Given the description of an element on the screen output the (x, y) to click on. 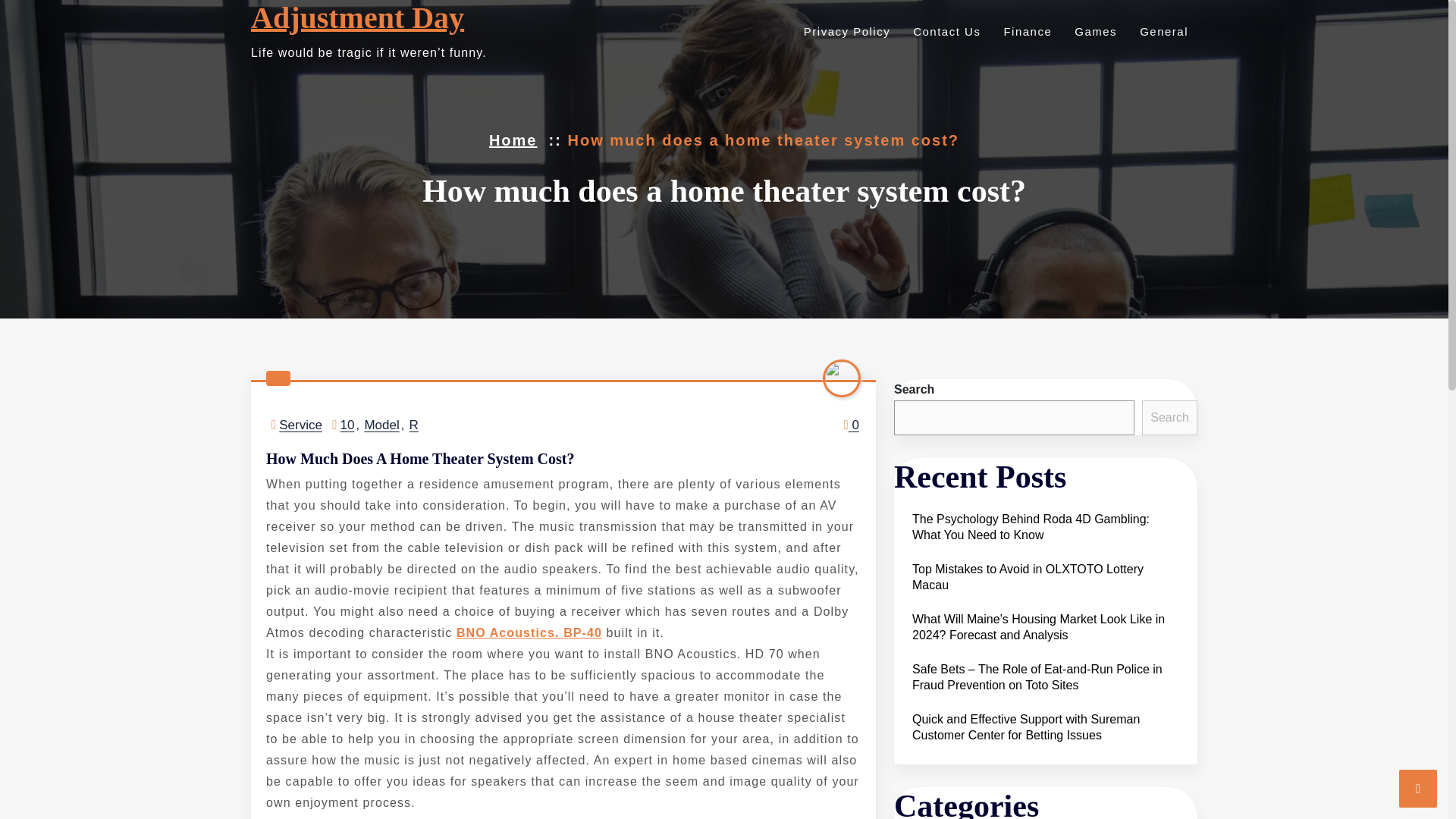
Privacy Policy (844, 31)
Finance (1024, 31)
Privacy Policy (844, 31)
Finance (1024, 31)
Games (1093, 31)
Contact Us (944, 31)
General (1161, 31)
Service (300, 424)
Model (381, 424)
Search (1168, 417)
BNO Acoustics. BP-40 (529, 632)
Top Mistakes to Avoid in OLXTOTO Lottery Macau (1045, 577)
General (1161, 31)
